Given the description of an element on the screen output the (x, y) to click on. 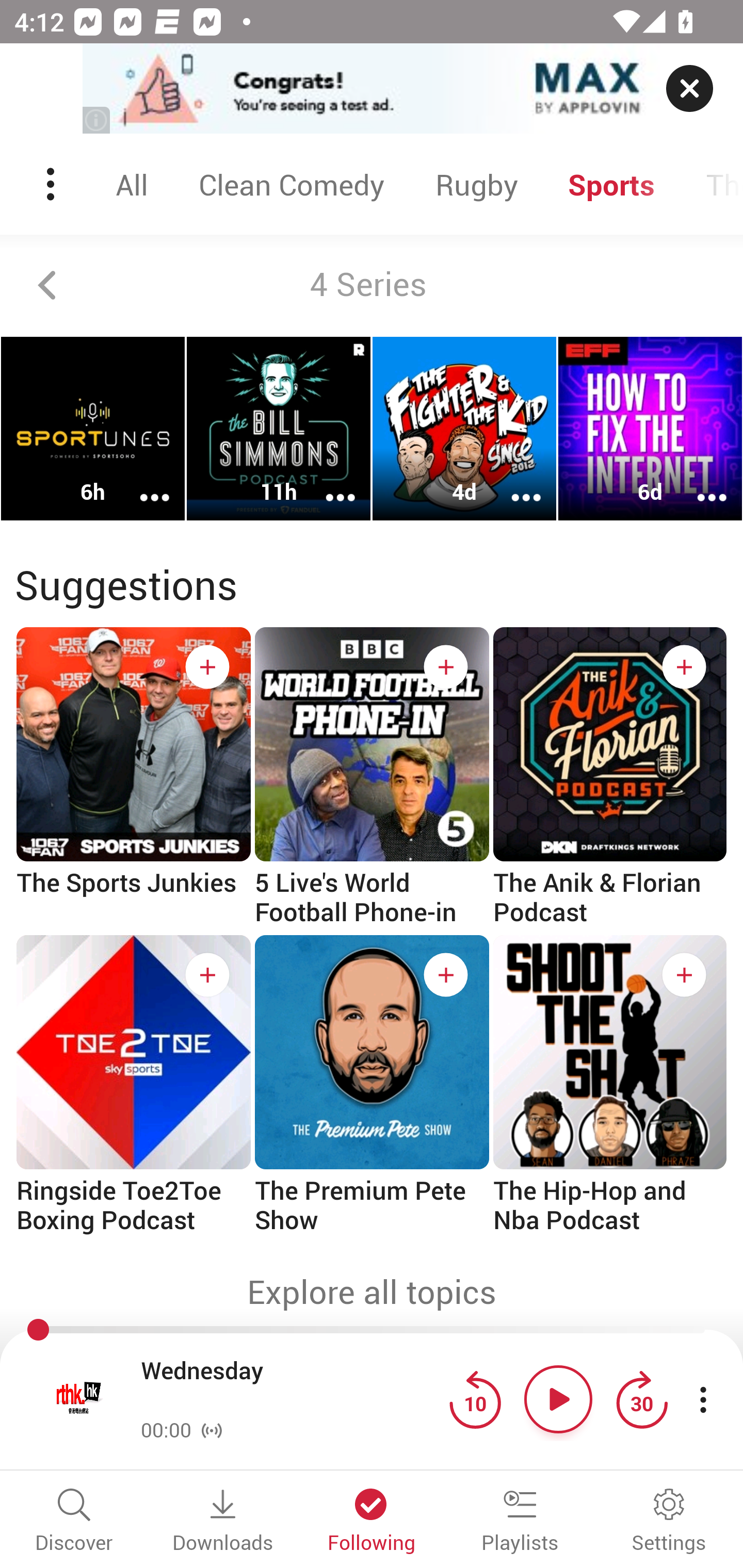
app-monetization (371, 88)
(i) (96, 119)
Menu (52, 184)
All (131, 184)
Clean Comedy (291, 184)
Rugby (476, 184)
Sports (611, 184)
4 Series (371, 285)
Sportunes HK 6h More options More options (92, 428)
The Fighter & The Kid 4d More options More options (464, 428)
More options (141, 484)
More options (326, 484)
More options (512, 484)
More options (698, 484)
Subscribe button (207, 666)
Subscribe button (446, 666)
Subscribe button (684, 666)
Subscribe button (207, 974)
Subscribe button (446, 974)
Subscribe button (684, 974)
Explore all topics (371, 1291)
Open fullscreen player (79, 1399)
More player controls (703, 1399)
Wednesday (290, 1385)
Play button (558, 1398)
Jump back (475, 1399)
Jump forward (641, 1399)
Discover (74, 1521)
Downloads (222, 1521)
Following (371, 1521)
Playlists (519, 1521)
Settings (668, 1521)
